Given the description of an element on the screen output the (x, y) to click on. 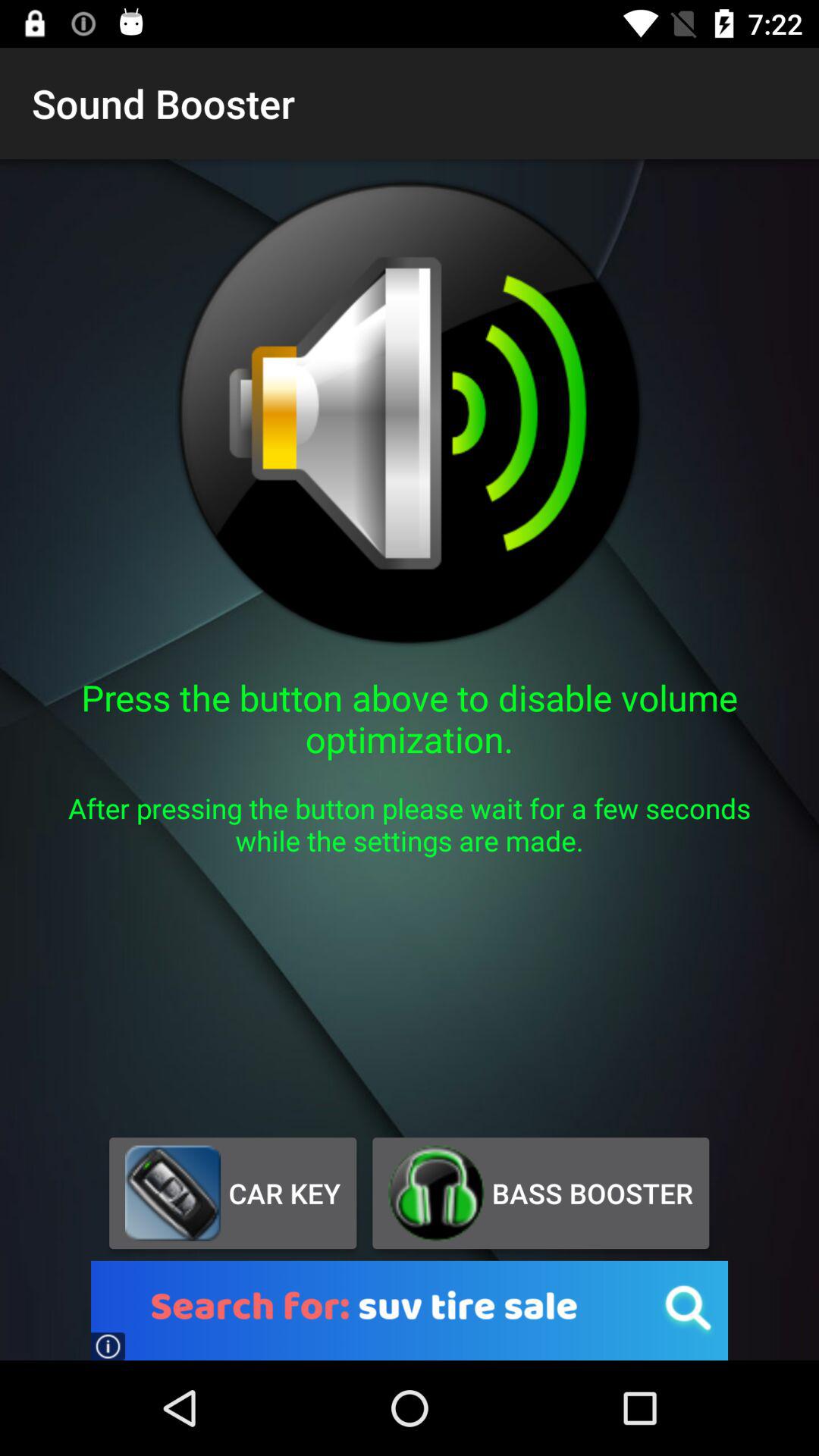
scroll to bass booster item (540, 1192)
